Given the description of an element on the screen output the (x, y) to click on. 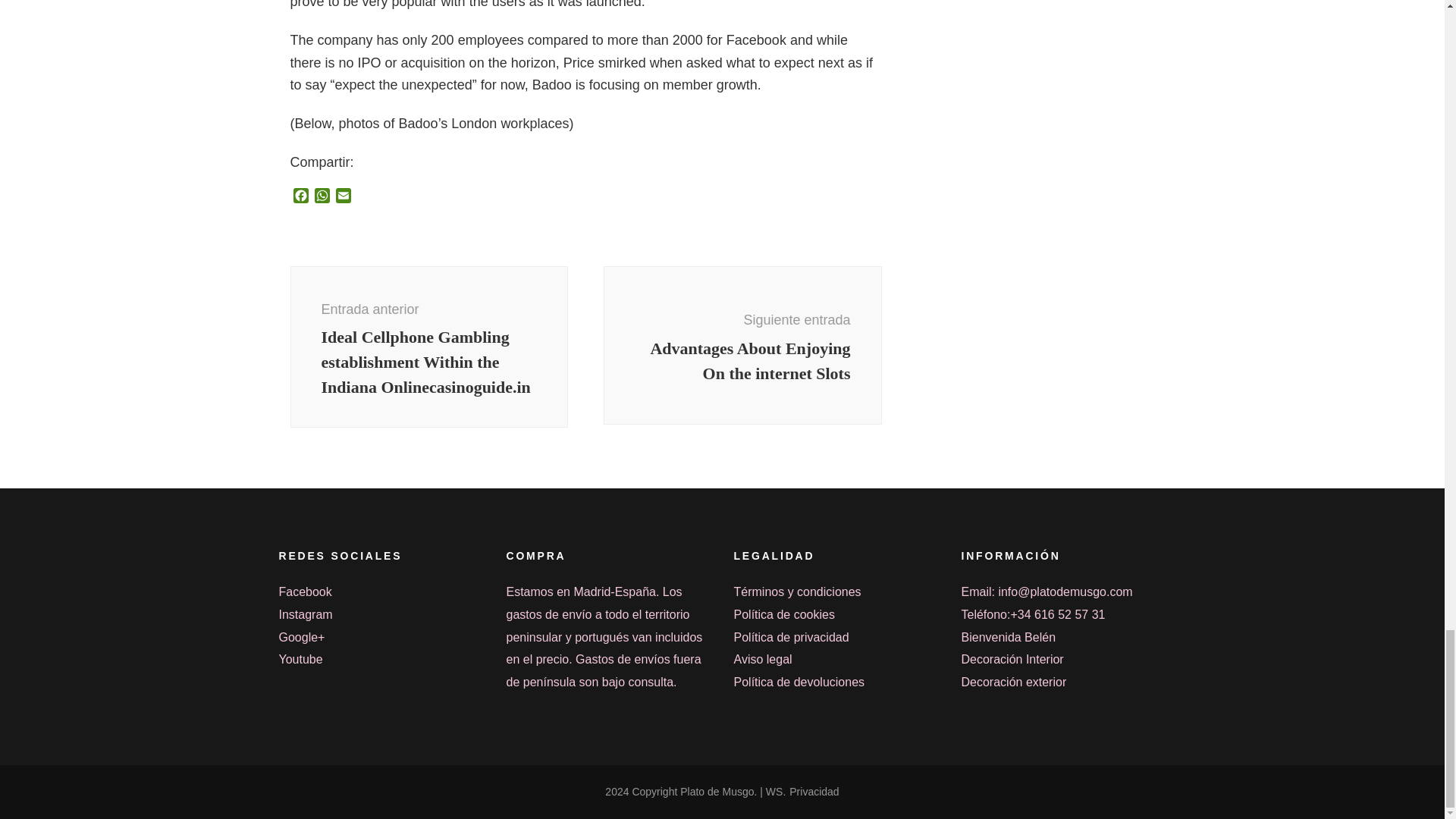
WhatsApp (321, 197)
Facebook (300, 197)
Facebook (300, 197)
WhatsApp (321, 197)
Email (342, 197)
